Given the description of an element on the screen output the (x, y) to click on. 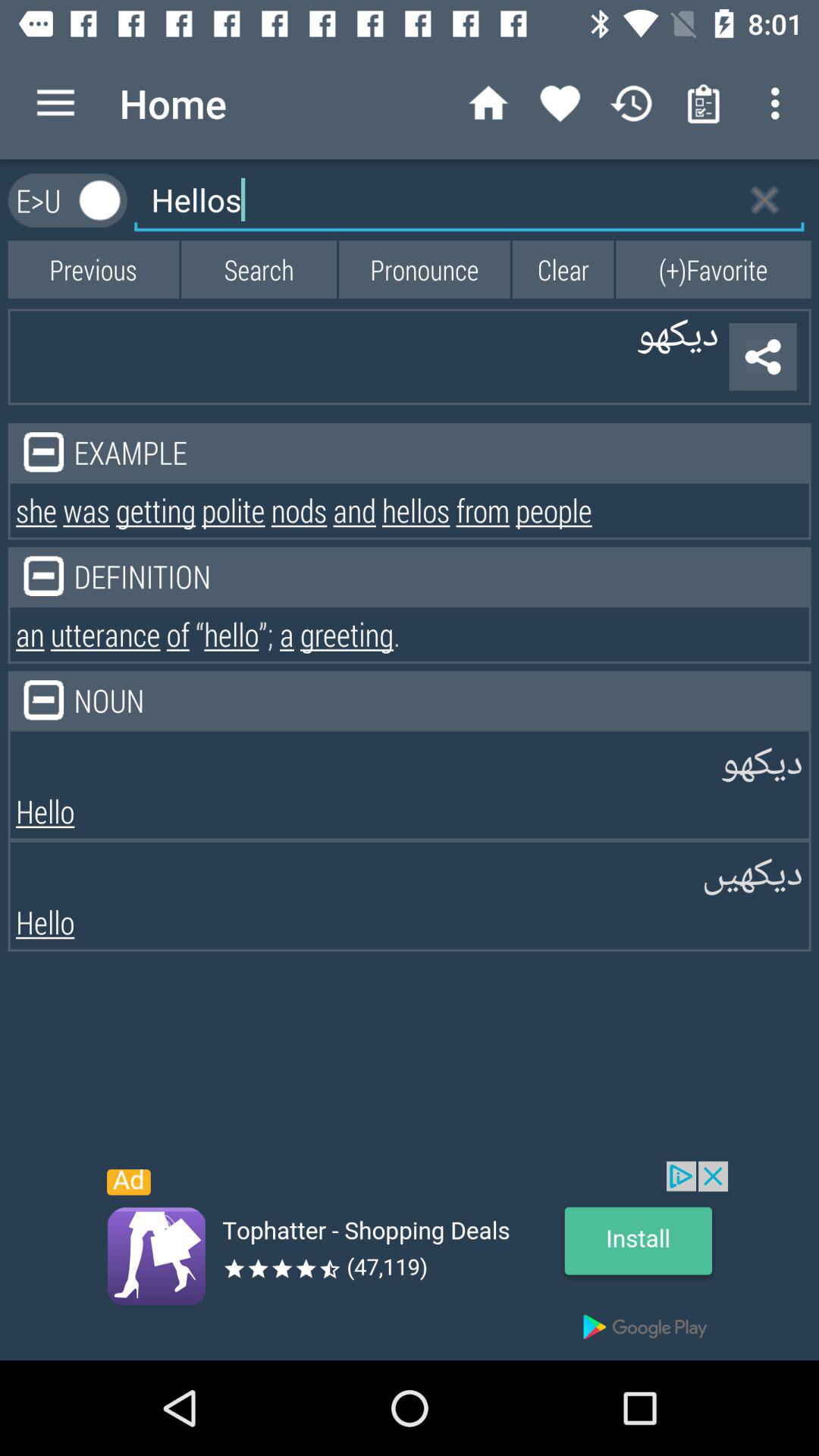
install the option (409, 1260)
